Given the description of an element on the screen output the (x, y) to click on. 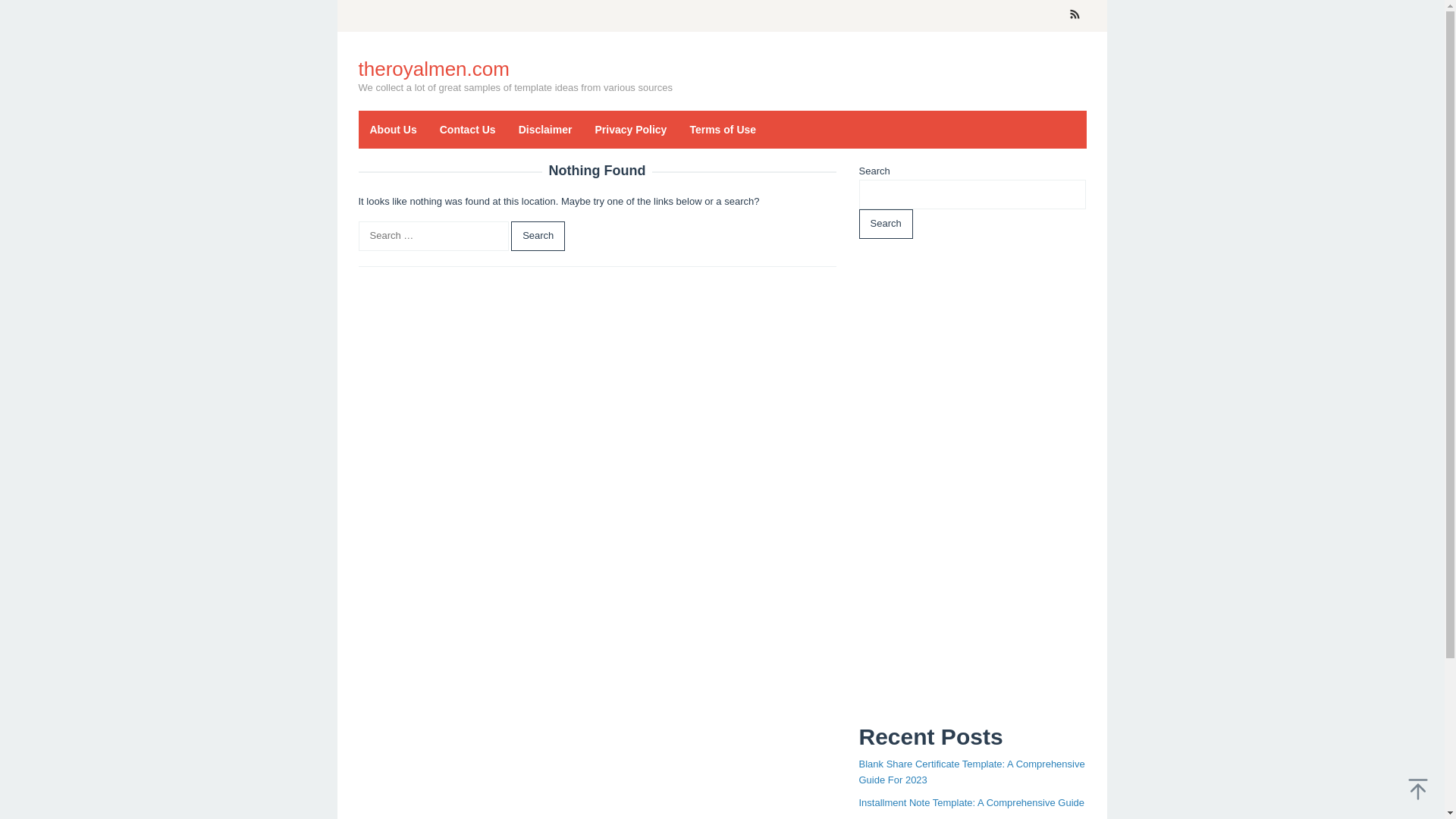
Contact Us (467, 129)
Search (537, 235)
Search (885, 224)
theroyalmen.com (433, 68)
Installment Note Template: A Comprehensive Guide (971, 802)
Terms of Use (722, 129)
Privacy Policy (630, 129)
Search (537, 235)
Disclaimer (544, 129)
About Us (393, 129)
theroyalmen.com (433, 68)
Search (537, 235)
